Given the description of an element on the screen output the (x, y) to click on. 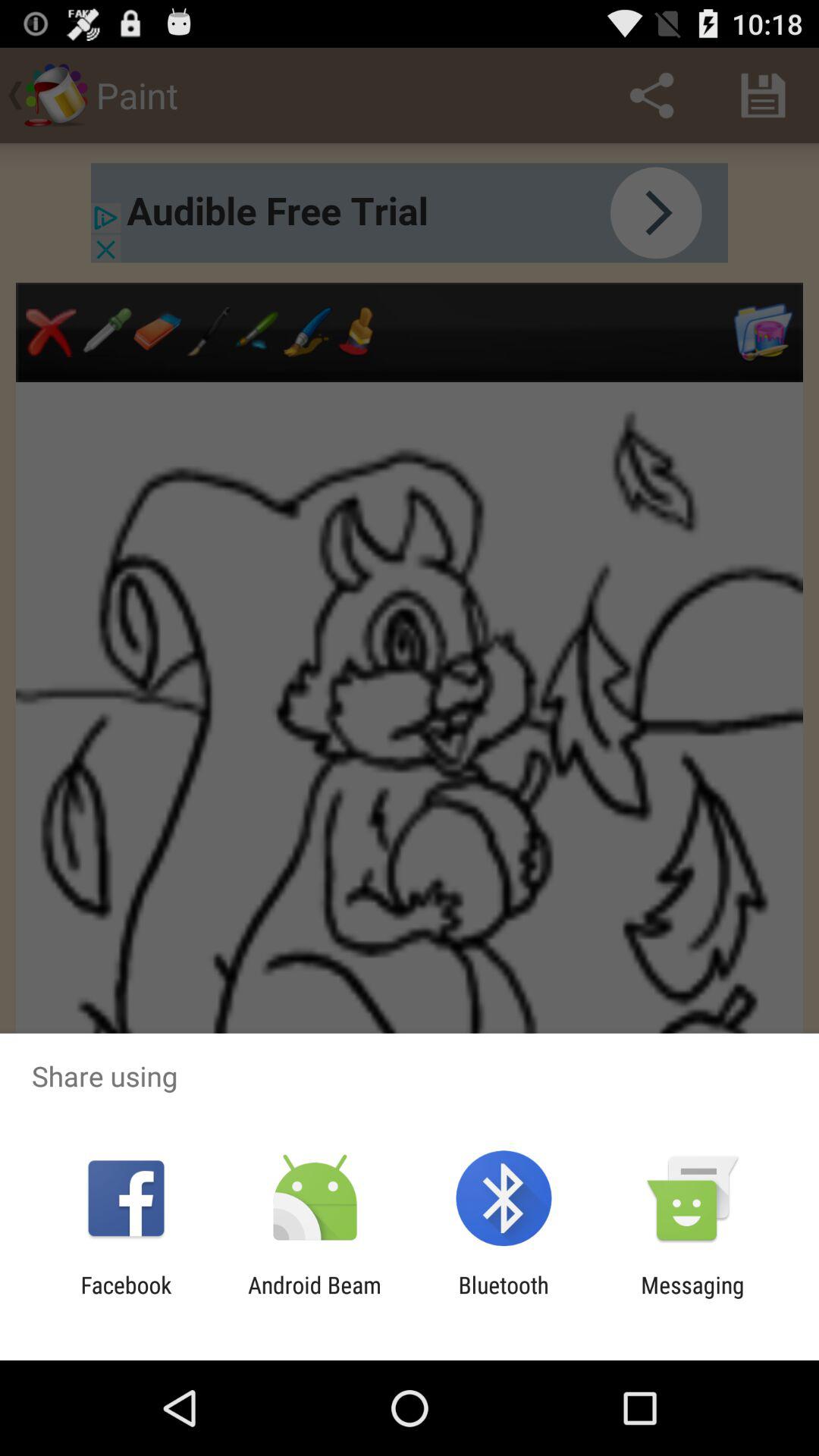
open the item next to messaging (503, 1298)
